Given the description of an element on the screen output the (x, y) to click on. 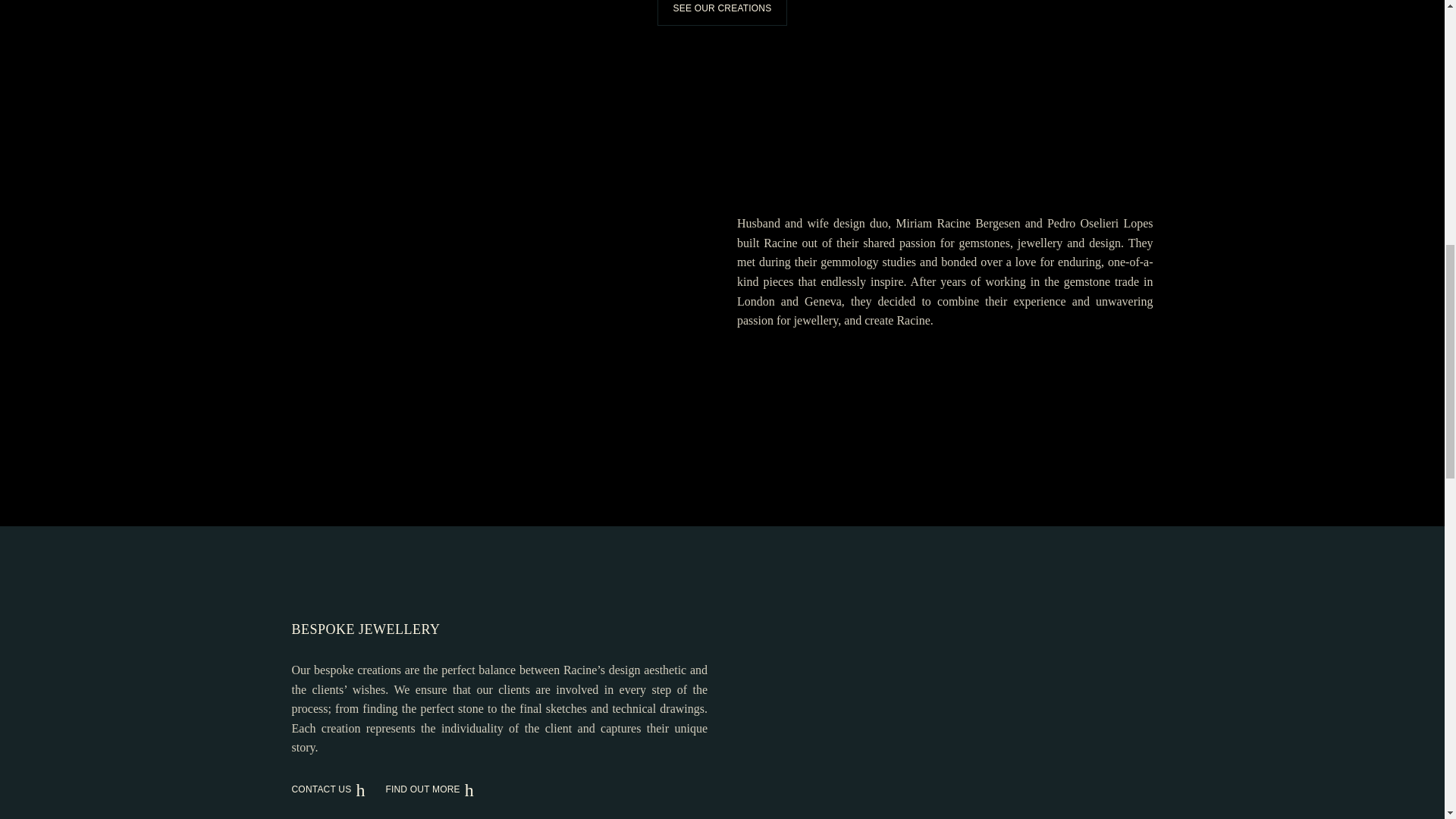
FIND OUT MORE (436, 789)
SEE OUR CREATIONS (722, 12)
CONTACT US (334, 789)
